Given the description of an element on the screen output the (x, y) to click on. 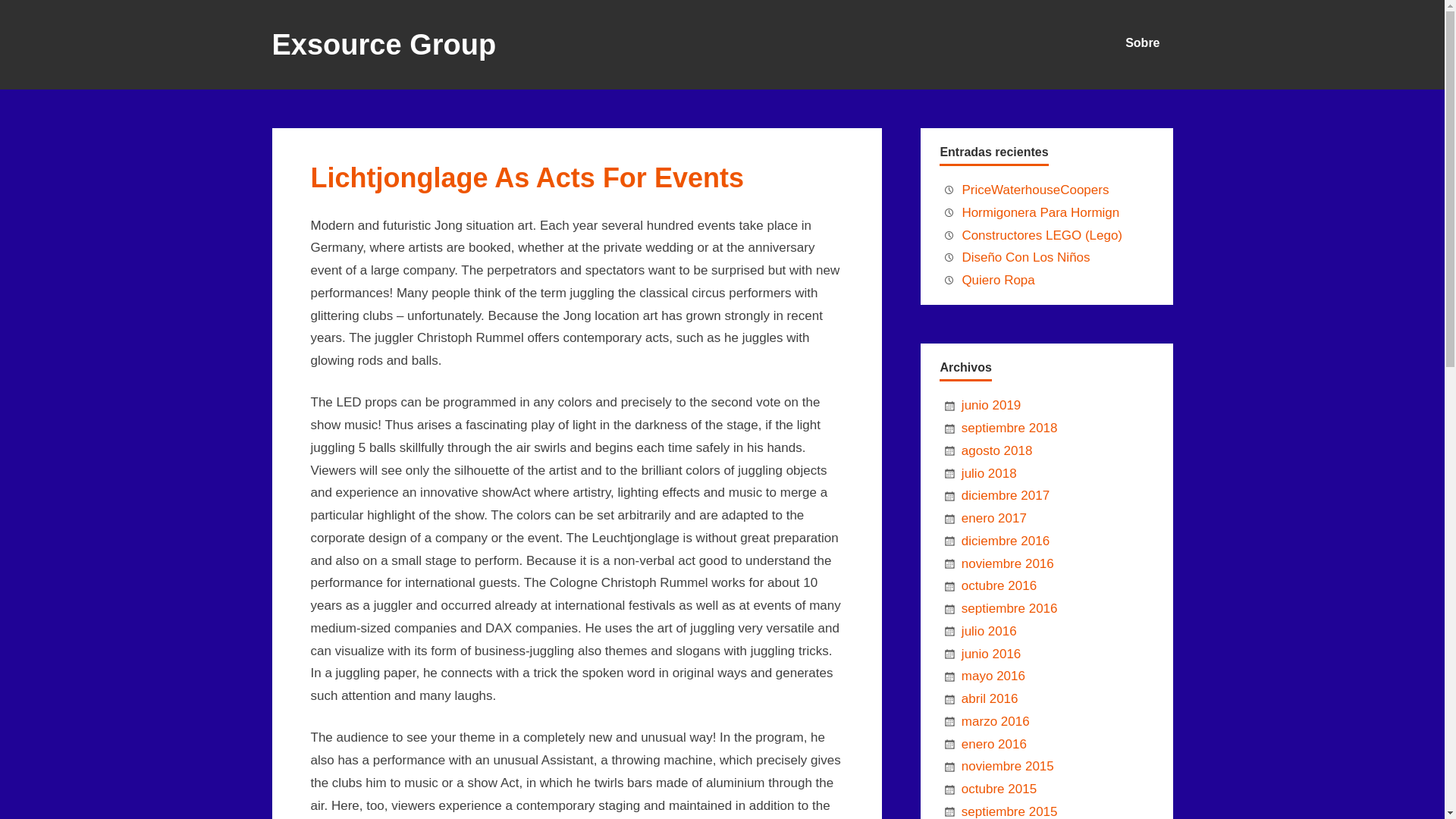
enero 2016 (993, 744)
Exsource Group (383, 49)
Sobre (1141, 39)
septiembre 2016 (1009, 608)
septiembre 2015 (1009, 811)
mayo 2016 (992, 676)
agosto 2018 (996, 450)
junio 2016 (990, 653)
diciembre 2016 (1004, 540)
julio 2018 (988, 473)
